Given the description of an element on the screen output the (x, y) to click on. 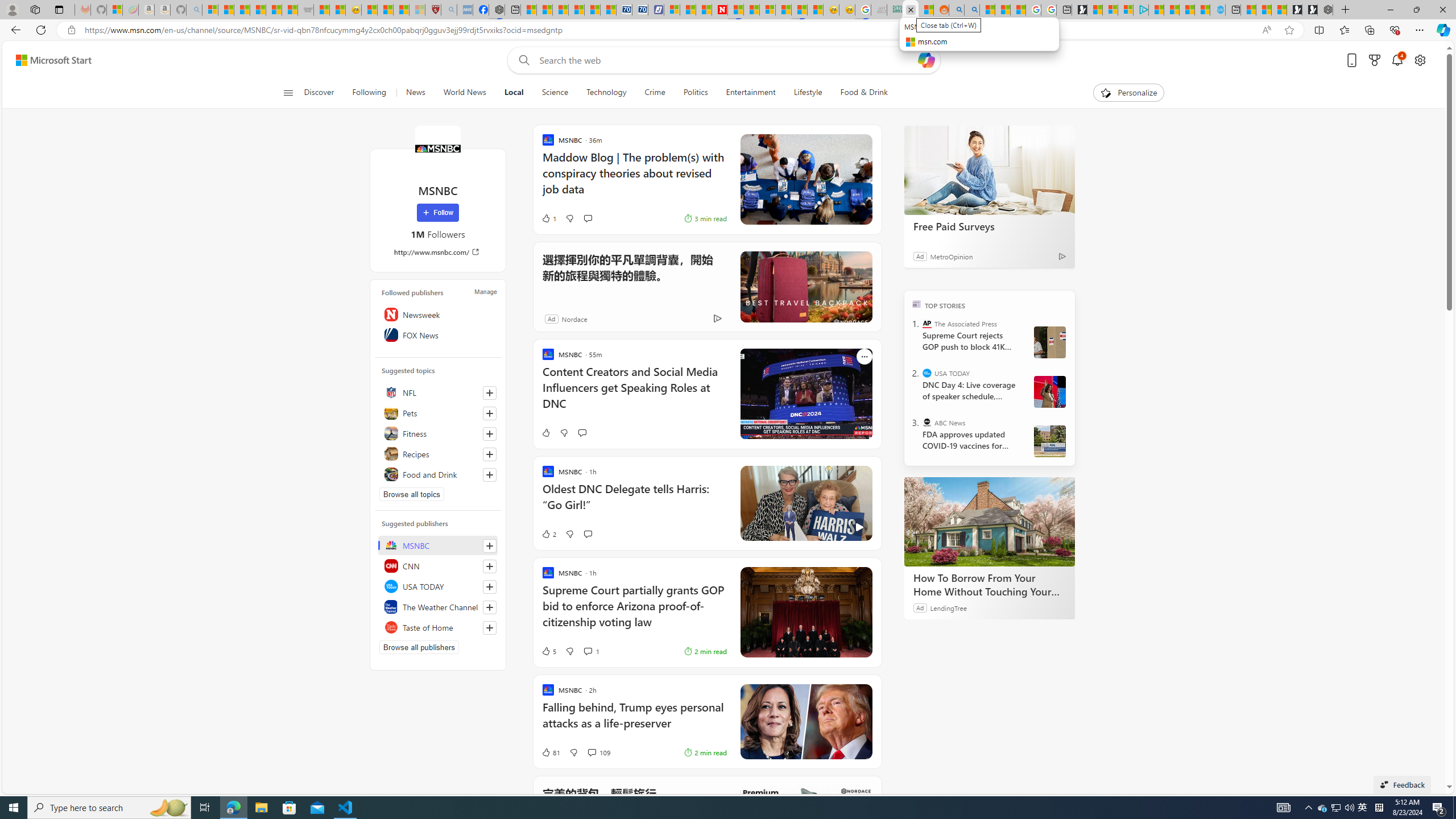
Browse all publishers (419, 647)
World News (464, 92)
Lifestyle (807, 92)
5 Like (547, 650)
